Given the description of an element on the screen output the (x, y) to click on. 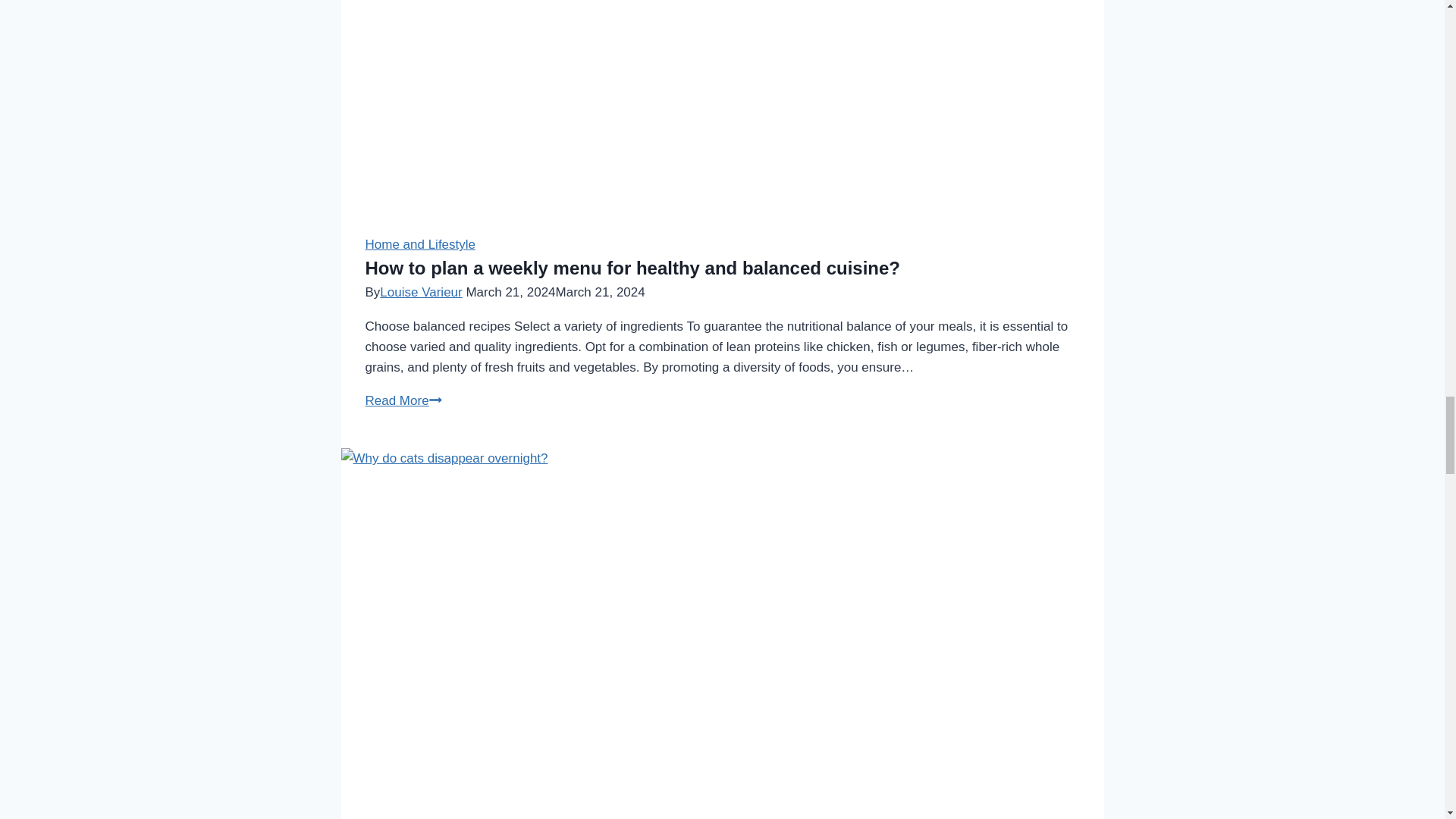
Home and Lifestyle (420, 244)
Louise Varieur (420, 292)
How to plan a weekly menu for healthy and balanced cuisine? (633, 267)
